Given the description of an element on the screen output the (x, y) to click on. 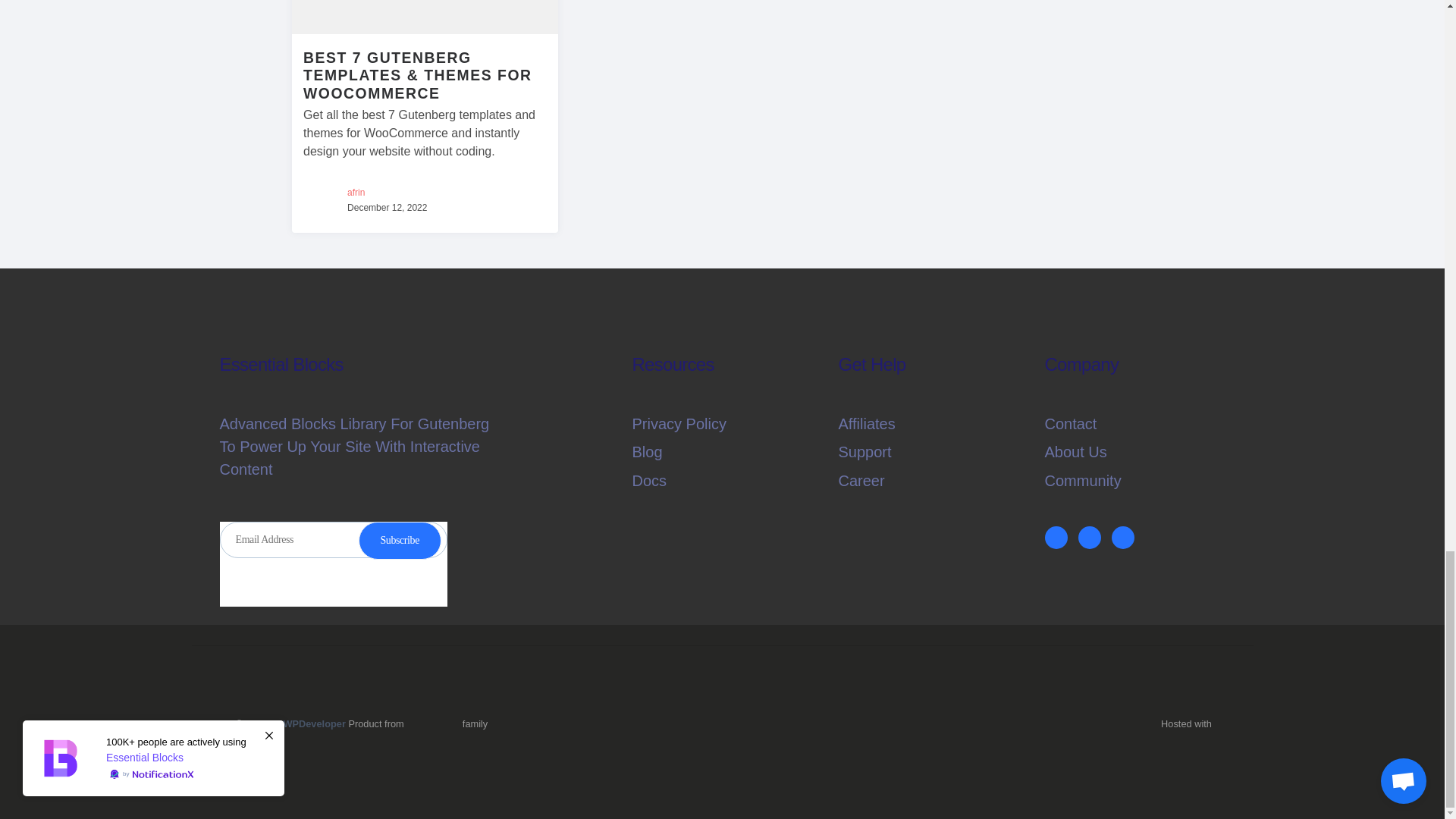
Subscribe (399, 540)
